Given the description of an element on the screen output the (x, y) to click on. 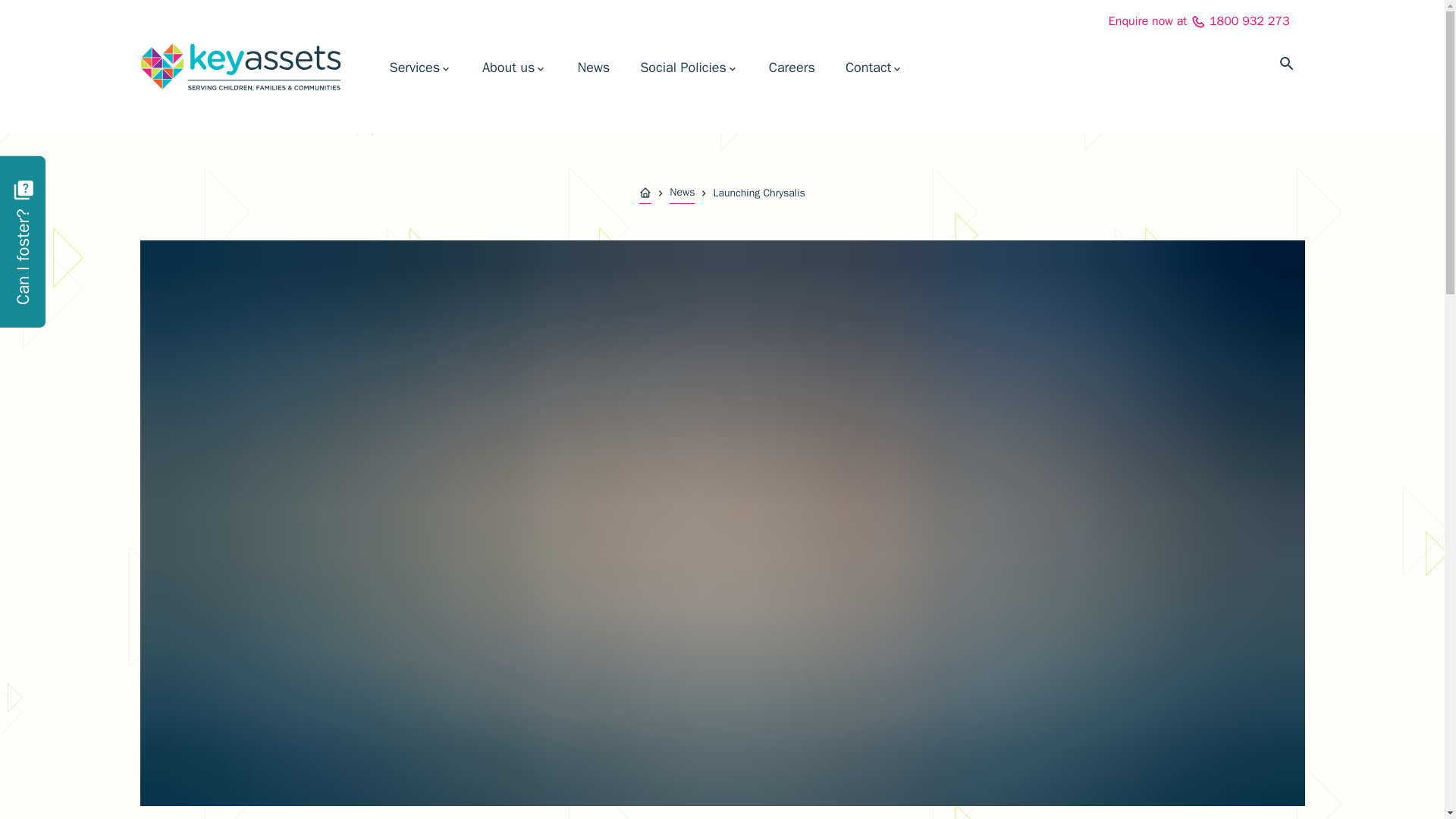
Enquire now at 1800 932 273 (1199, 21)
search toggle (1286, 63)
News (593, 67)
Careers (791, 67)
Can I foster? (68, 173)
News (681, 192)
